Given the description of an element on the screen output the (x, y) to click on. 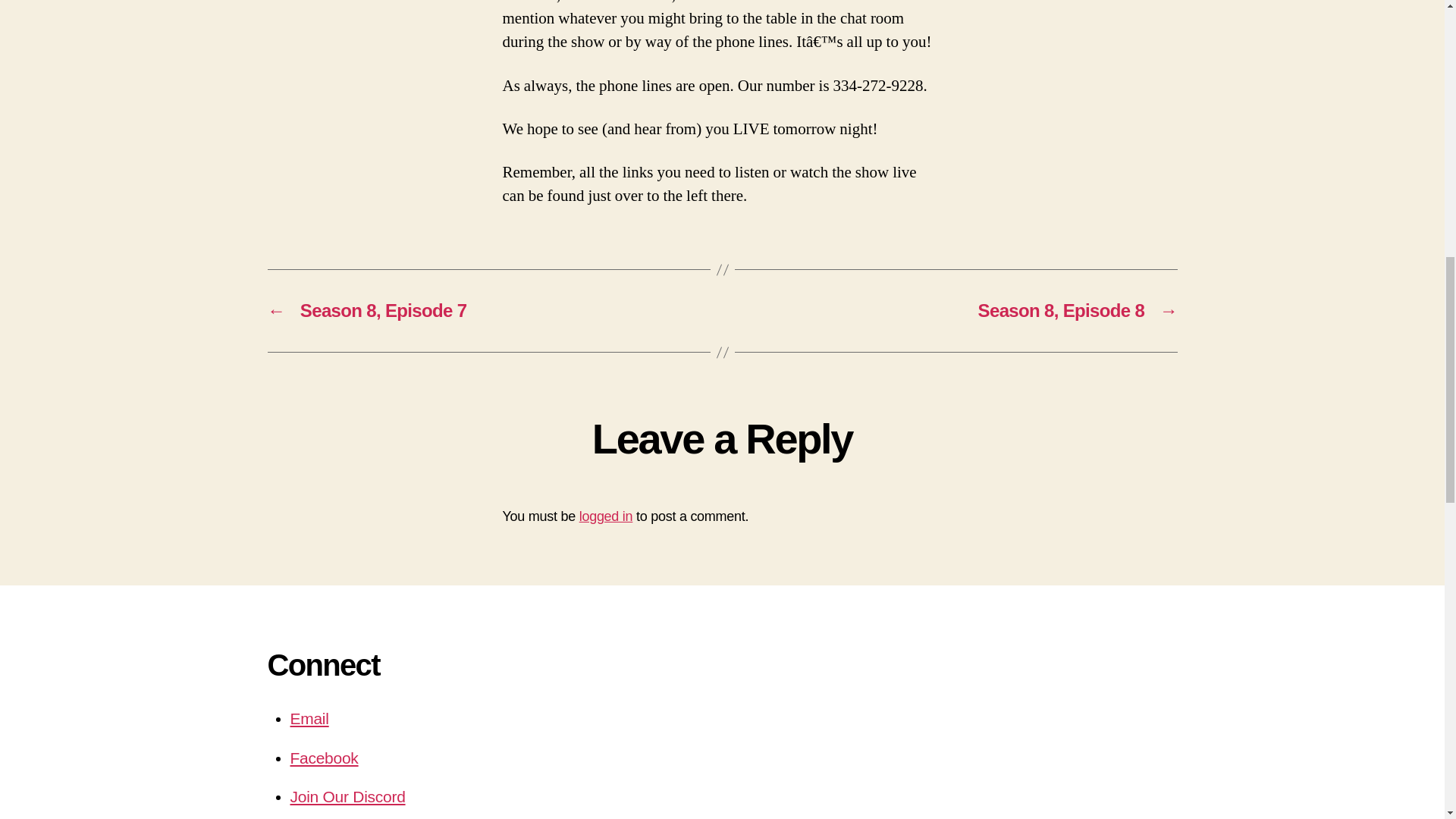
logged in (606, 516)
Email (309, 718)
Join Our Discord (346, 796)
Send the hosts an email. (309, 718)
Facebook (323, 757)
Connect with us on Facebook. (323, 757)
